Given the description of an element on the screen output the (x, y) to click on. 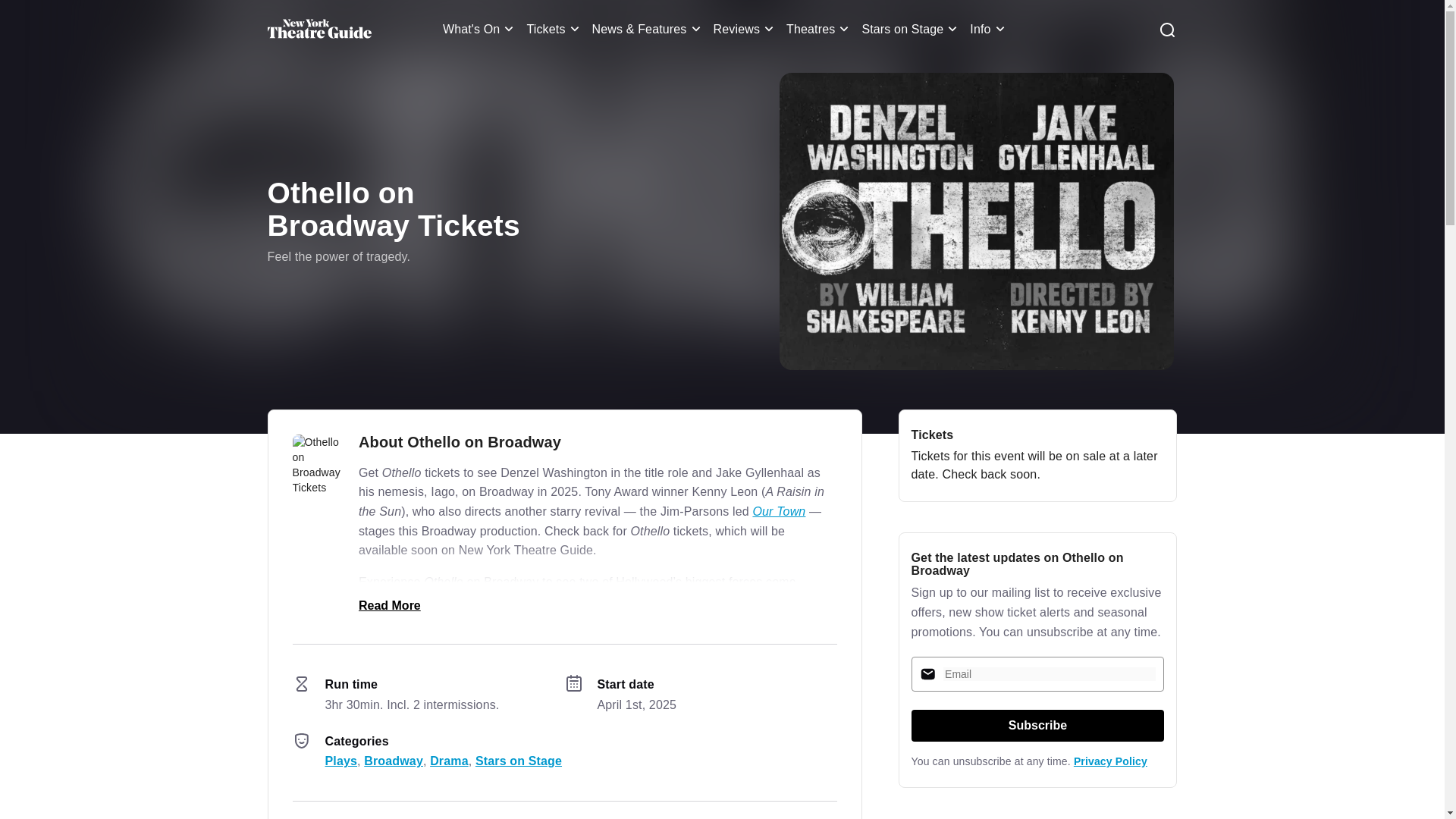
What's On (480, 28)
Reviews (745, 28)
Theatres (819, 28)
Tickets (554, 28)
Home (318, 28)
